Given the description of an element on the screen output the (x, y) to click on. 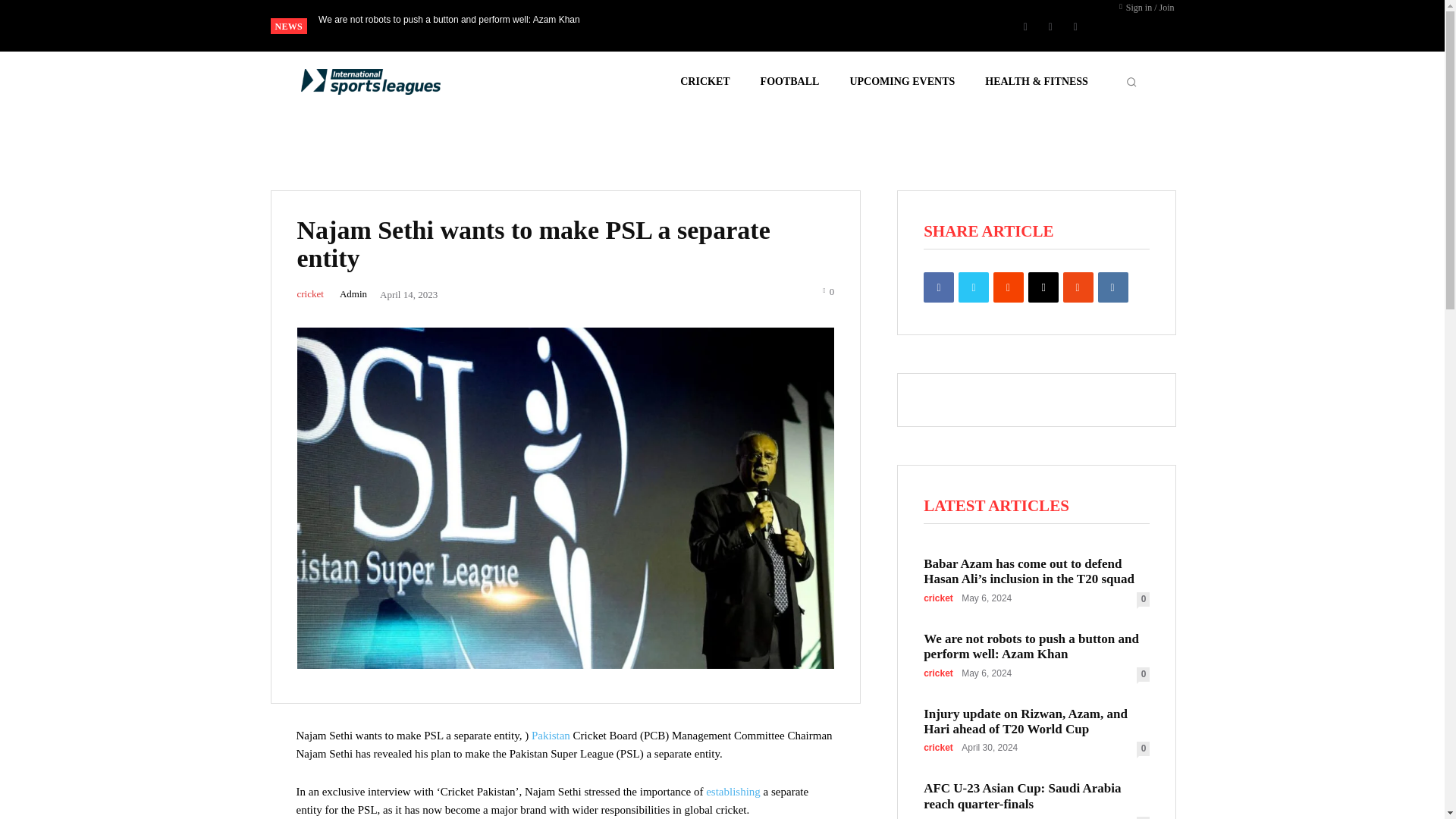
cricket (310, 293)
Facebook (1024, 25)
UPCOMING EVENTS (901, 81)
Admin (352, 293)
Pakistan (552, 735)
0 (828, 289)
establishing (734, 791)
FOOTBALL (789, 81)
